Given the description of an element on the screen output the (x, y) to click on. 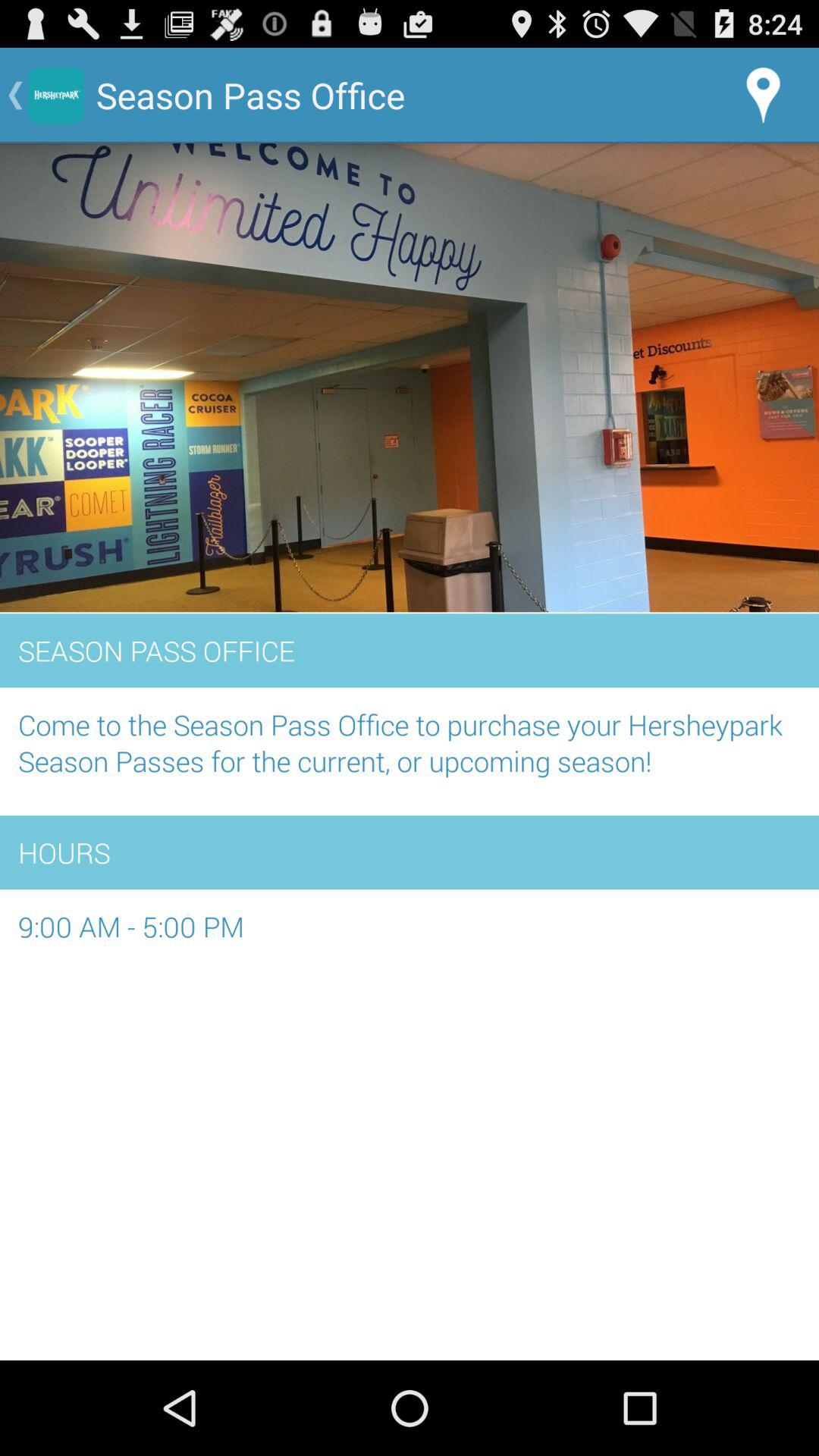
launch the icon next to the season pass office app (763, 95)
